Given the description of an element on the screen output the (x, y) to click on. 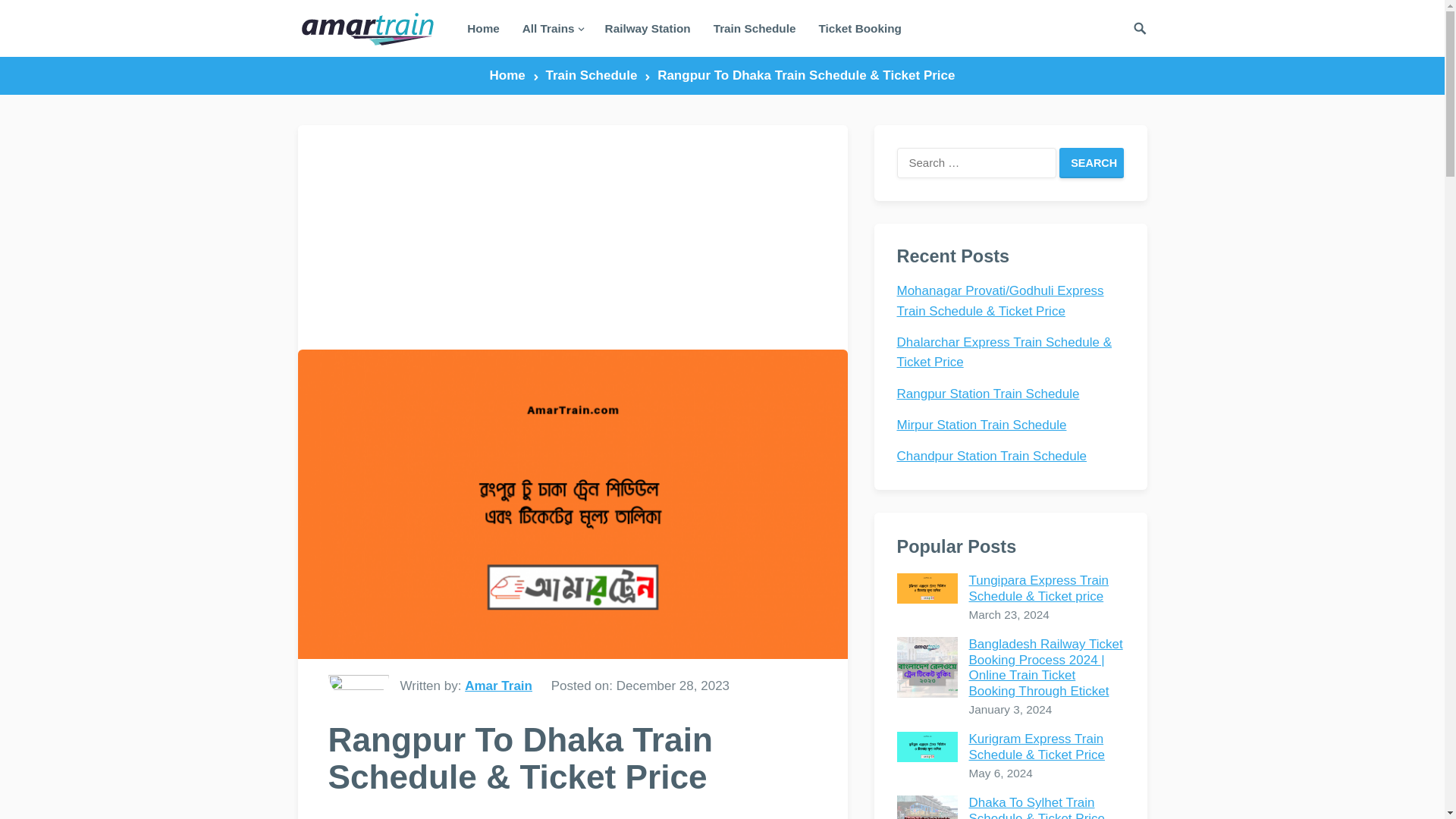
View all posts in Train Schedule (433, 817)
View all posts in Train Schedule (597, 74)
Home (483, 28)
Train Schedule (433, 817)
Amar Train (498, 685)
Railway Station (647, 28)
Train Schedule (597, 74)
Ticket Booking (859, 28)
Search (1091, 163)
Search (1091, 163)
Home (513, 74)
Advertisement (572, 237)
Posts by Amar Train (498, 685)
Train Schedule (754, 28)
All Trains (552, 28)
